Given the description of an element on the screen output the (x, y) to click on. 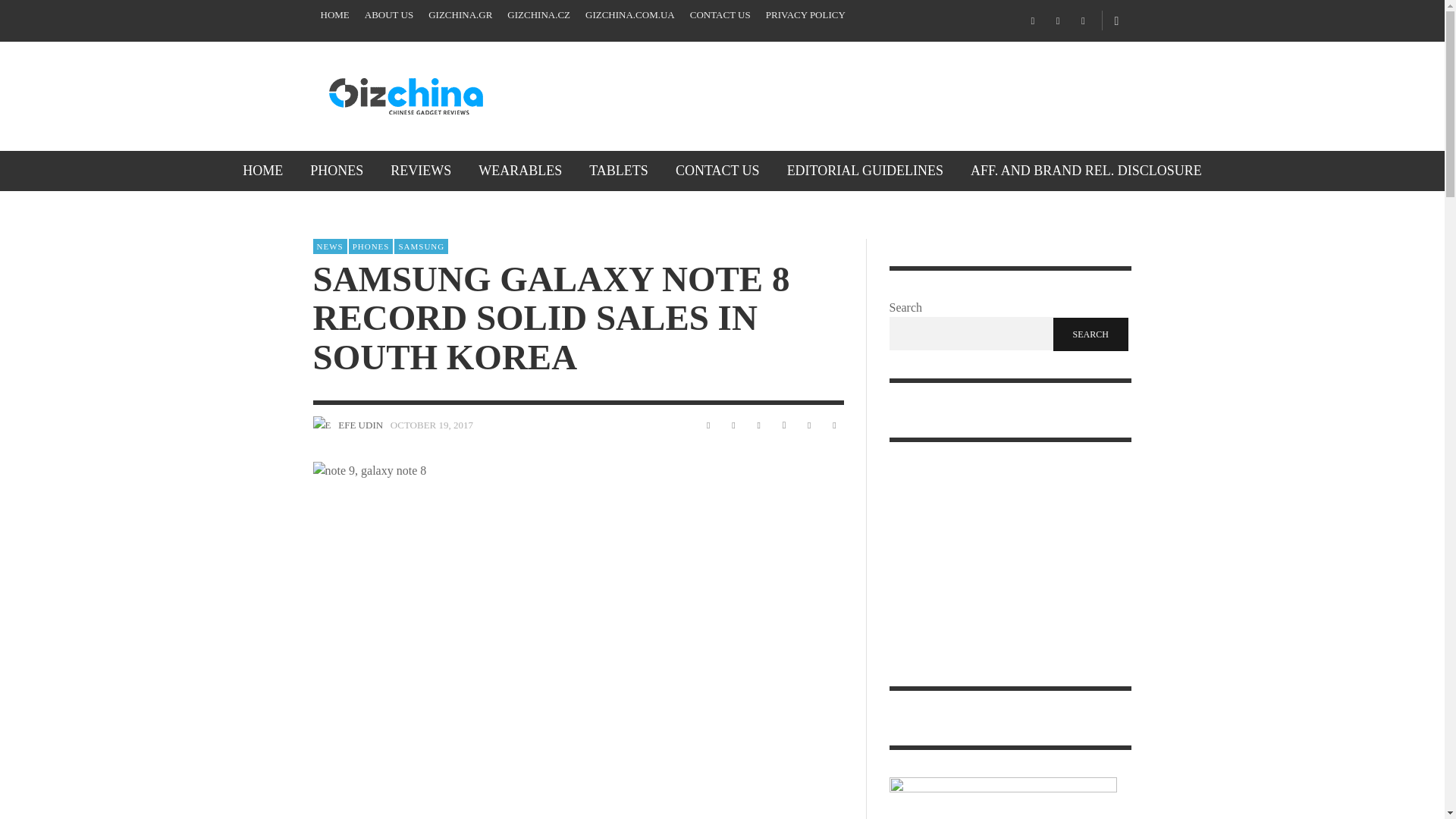
HOME (334, 15)
PHONES (337, 170)
HOME (262, 170)
ABOUT US (388, 15)
GIZCHINA.COM.UA (630, 15)
GIZCHINA.CZ (538, 15)
GIZCHINA.GR (459, 15)
REVIEWS (420, 170)
PRIVACY POLICY (805, 15)
CONTACT US (720, 15)
